Given the description of an element on the screen output the (x, y) to click on. 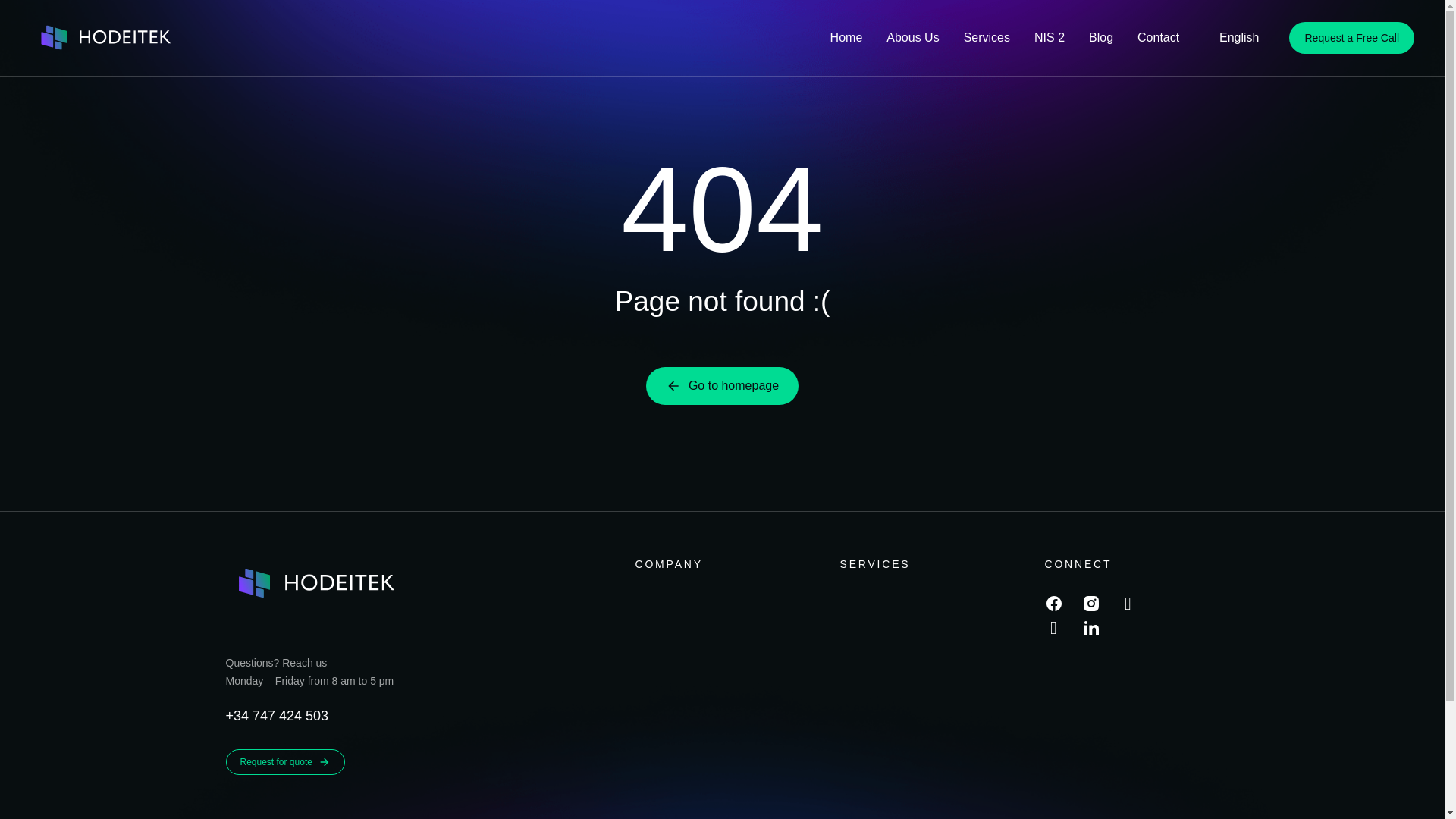
Request for quote (285, 761)
English (1230, 38)
English (1230, 38)
Request a Free Call (1350, 38)
Go to homepage (721, 385)
Abous Us (912, 38)
Services (987, 38)
